Given the description of an element on the screen output the (x, y) to click on. 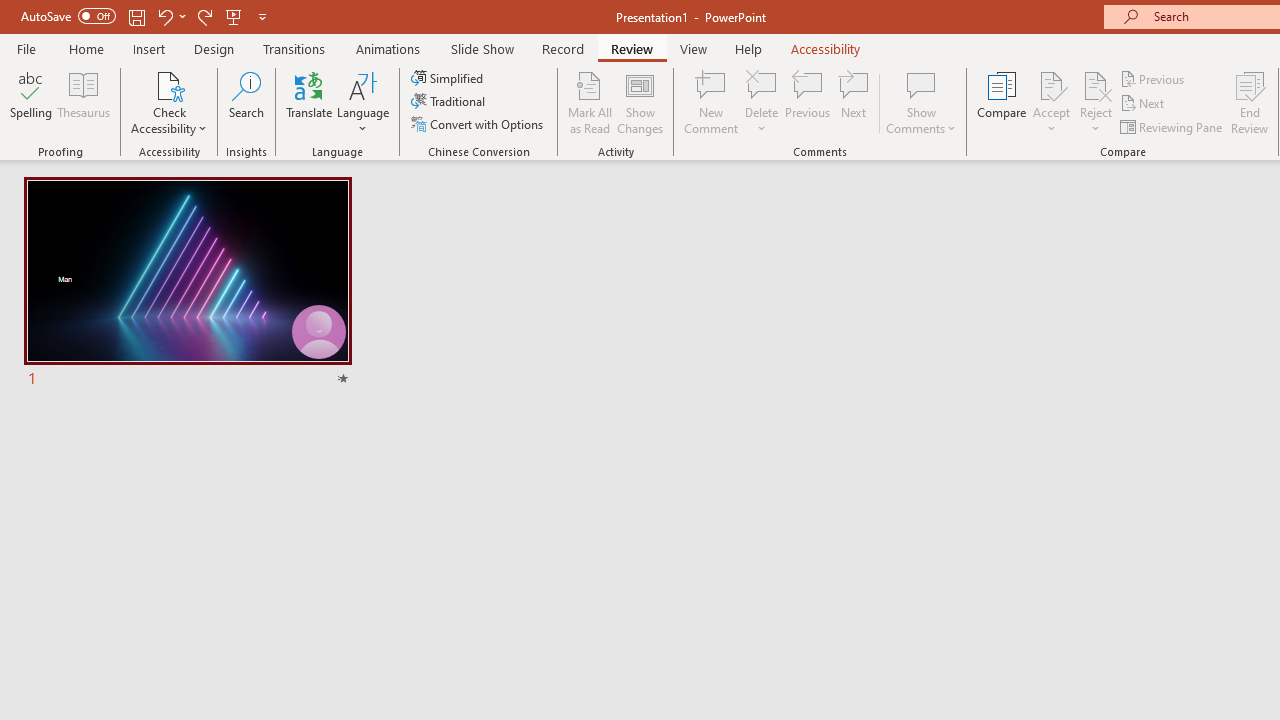
Accept Change (1051, 84)
End Review (1249, 102)
Reviewing Pane (1172, 126)
Translate (309, 102)
Accept (1051, 102)
Next (1144, 103)
